Given the description of an element on the screen output the (x, y) to click on. 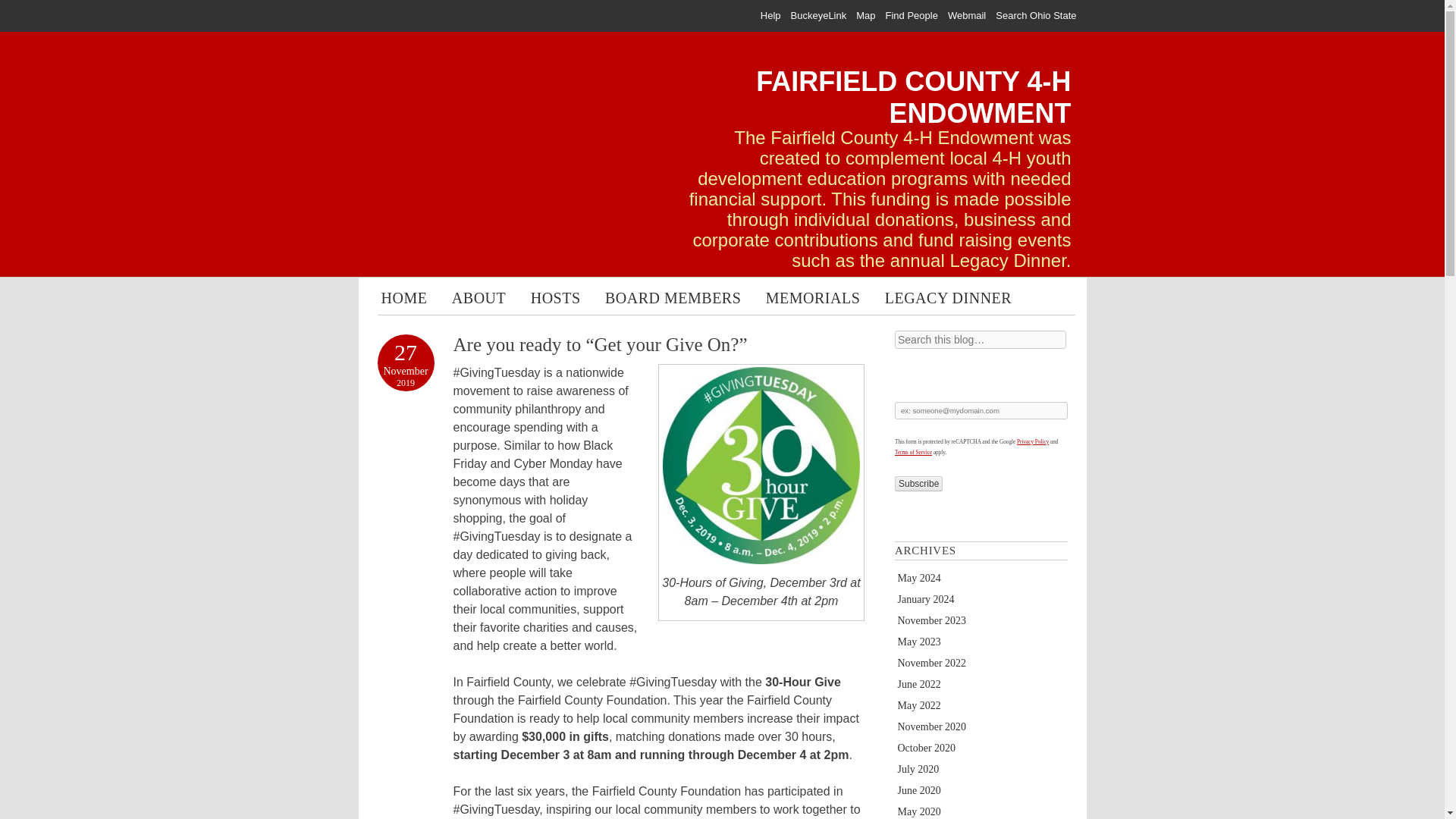
Fairfield County 4-H Endowment (912, 97)
Subscribe (918, 483)
May 2022 (919, 705)
July 2020 (918, 768)
May 2023 (919, 641)
LEGACY DINNER (947, 299)
BOARD MEMBERS (672, 299)
FAIRFIELD COUNTY 4-H ENDOWMENT (912, 97)
May 2020 (919, 811)
Terms of Service (913, 452)
Privacy Policy (1032, 441)
HOME (403, 299)
Help (770, 15)
November 2022 (932, 663)
MEMORIALS (812, 299)
